Given the description of an element on the screen output the (x, y) to click on. 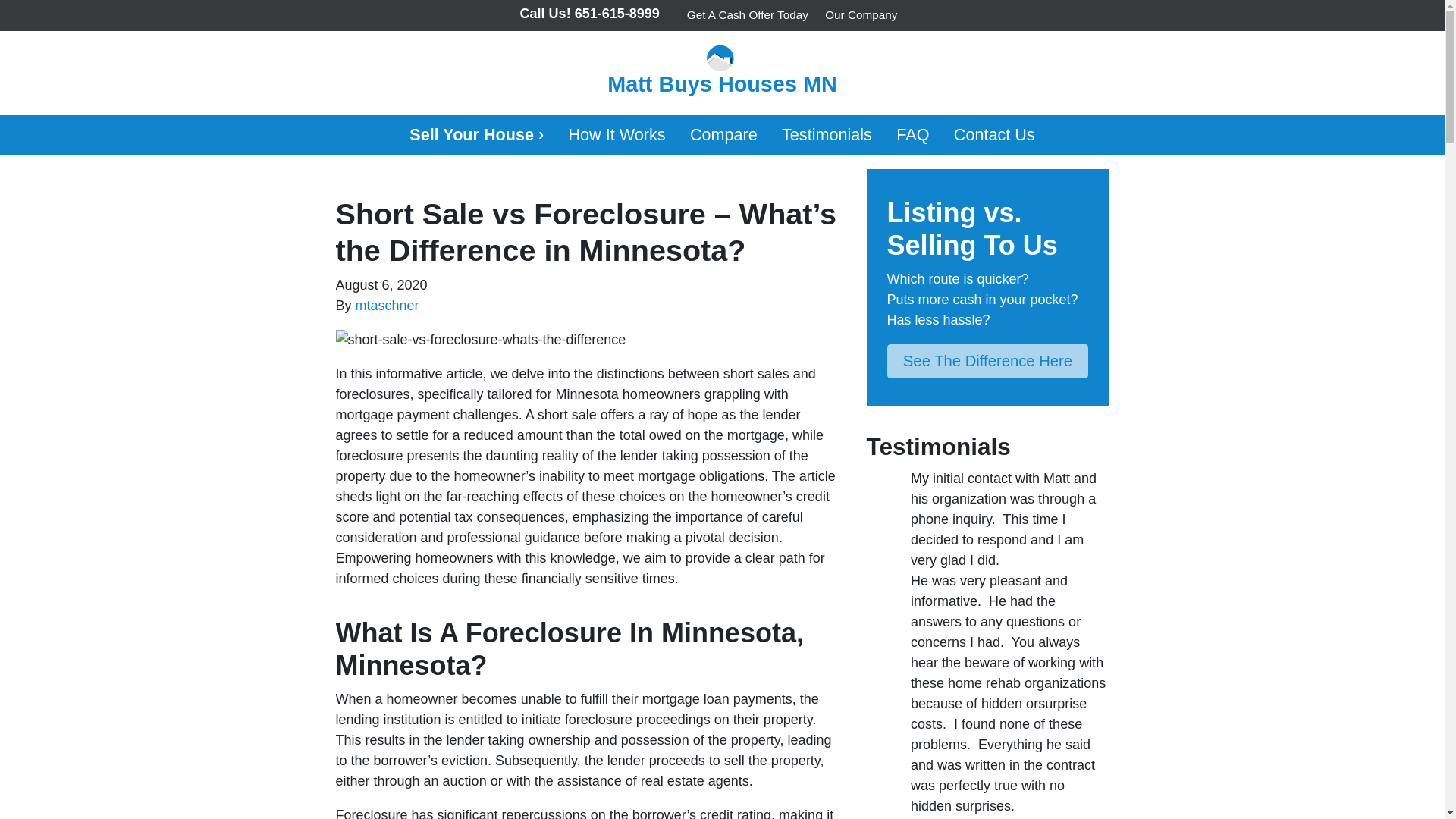
FAQ (912, 134)
Testimonials (826, 134)
See The Difference Here (987, 361)
Contact Us (994, 134)
How It Works (616, 134)
Get A Cash Offer Today (747, 15)
Compare (724, 134)
Testimonials (826, 134)
Compare (724, 134)
Our Company (861, 15)
FAQ (912, 134)
Contact Us (994, 134)
How It Works (616, 134)
mtaschner (387, 305)
